Given the description of an element on the screen output the (x, y) to click on. 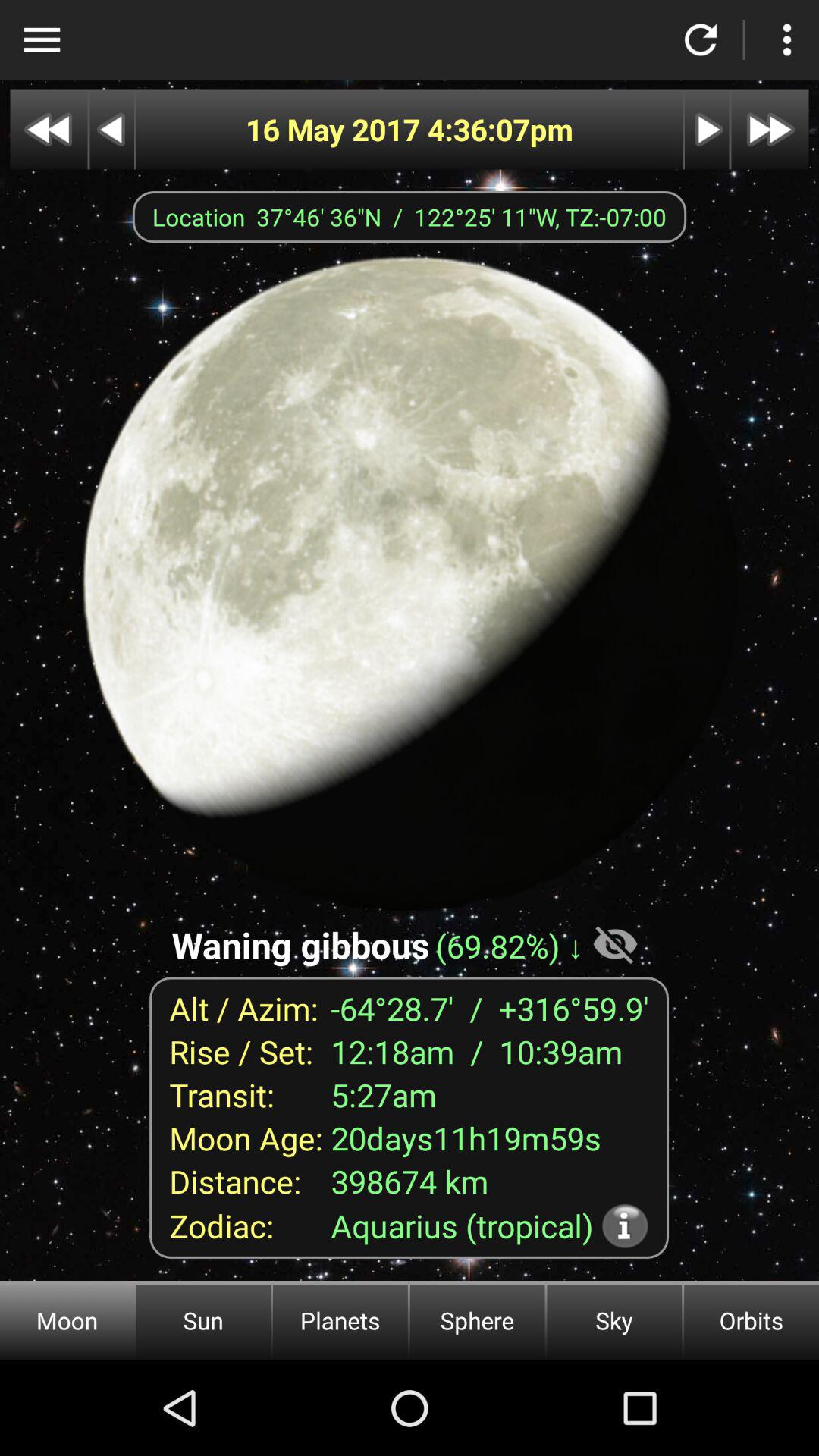
launch icon above sky item (624, 1225)
